Given the description of an element on the screen output the (x, y) to click on. 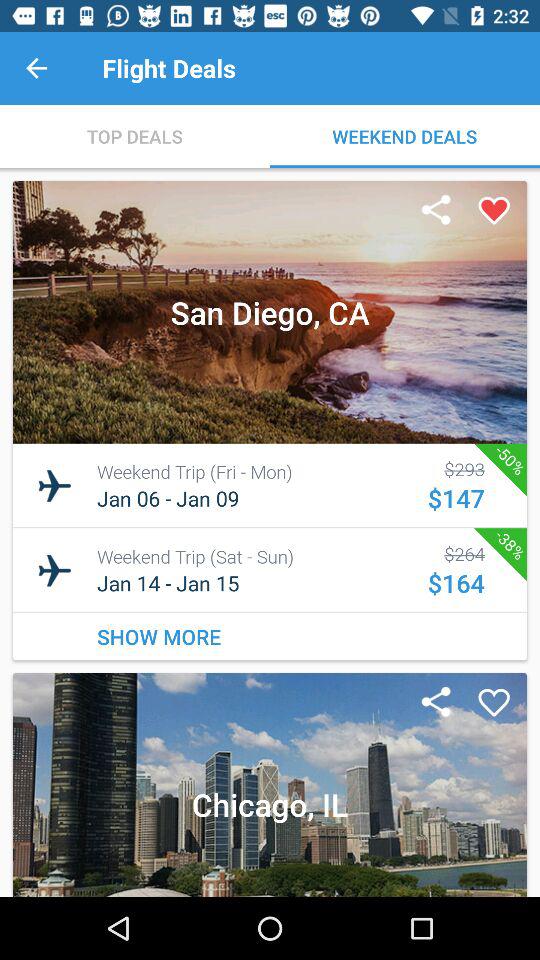
heart like button (494, 211)
